Given the description of an element on the screen output the (x, y) to click on. 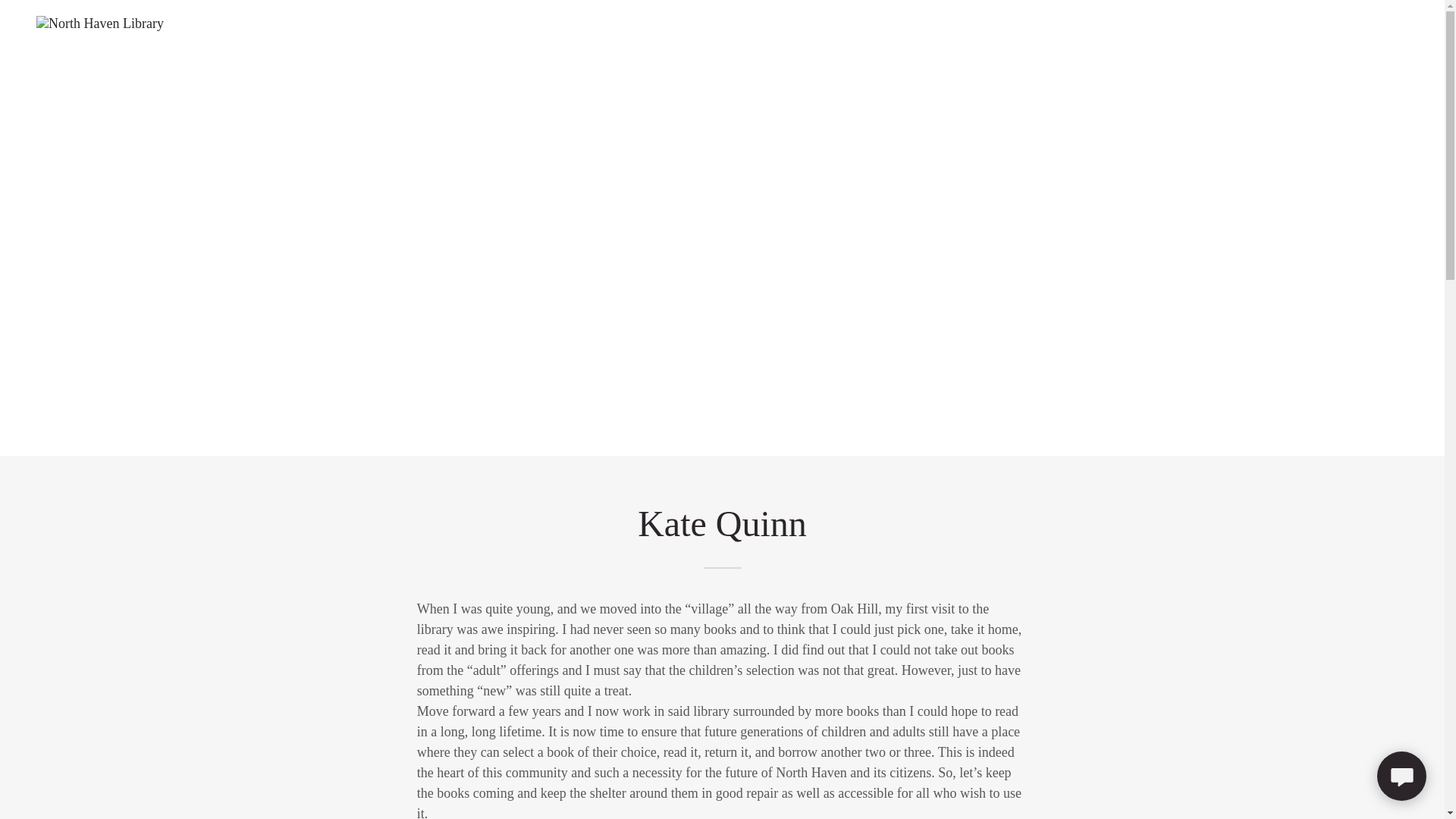
North Haven Library (99, 21)
